Given the description of an element on the screen output the (x, y) to click on. 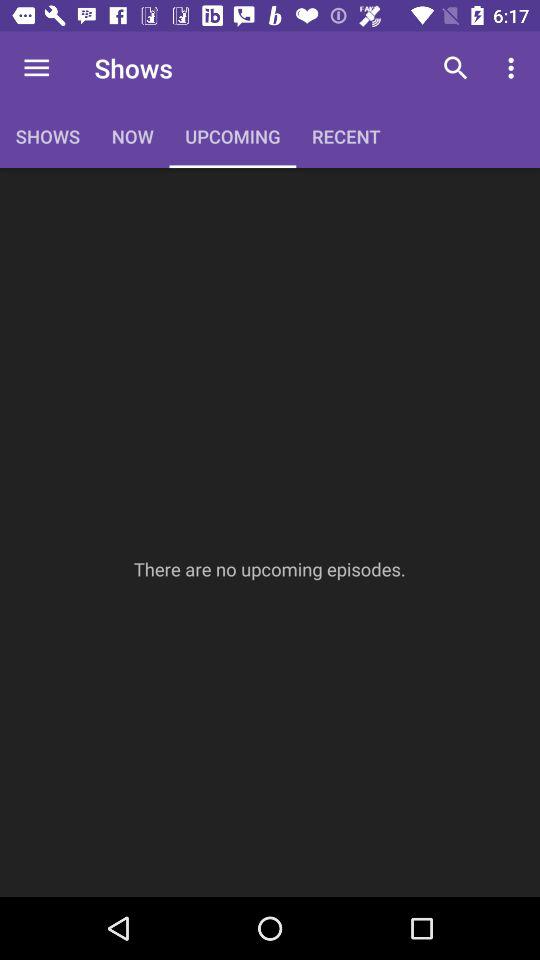
click the icon above there are no (455, 67)
